Given the description of an element on the screen output the (x, y) to click on. 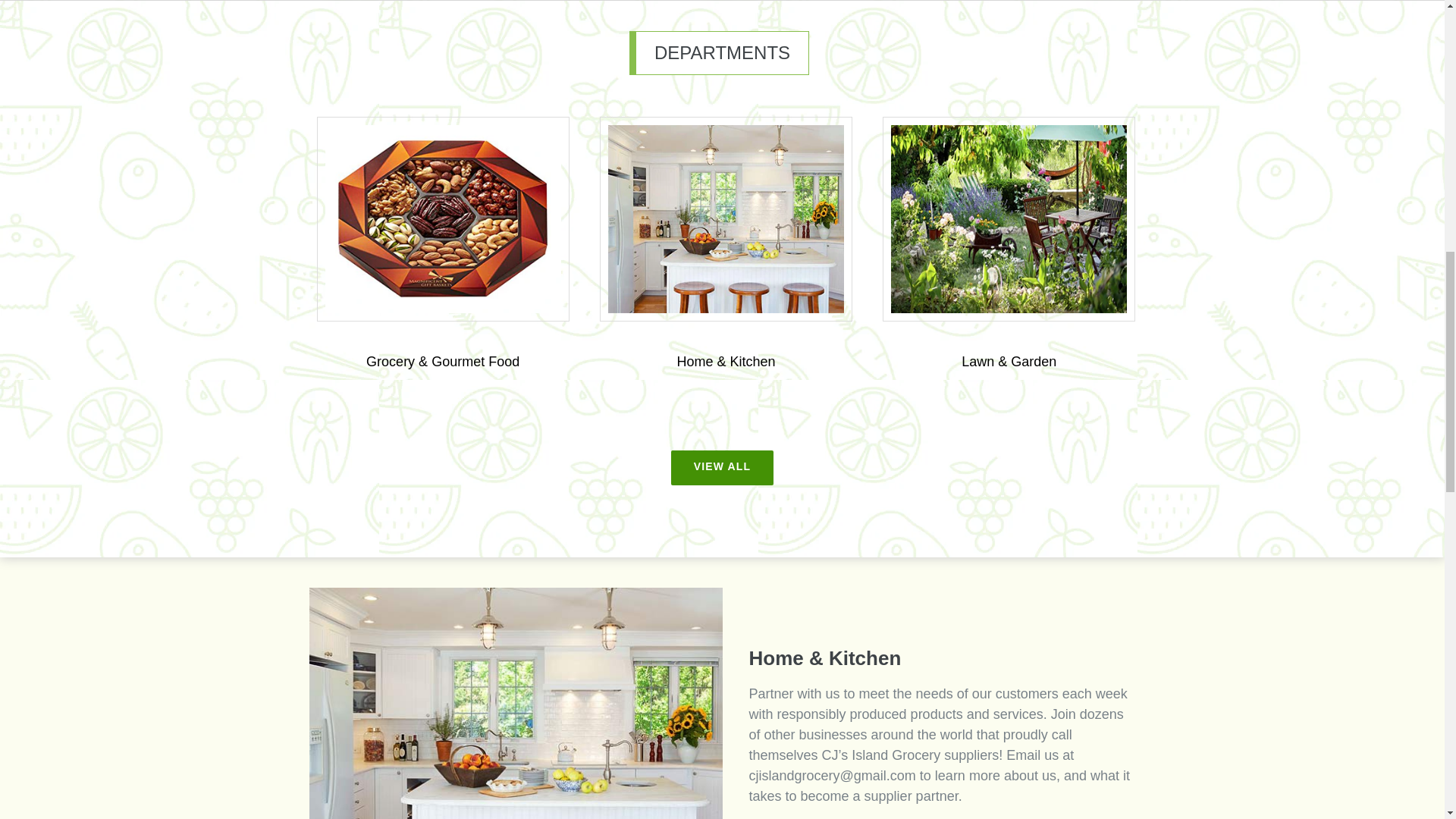
VIEW ALL (722, 467)
